Given the description of an element on the screen output the (x, y) to click on. 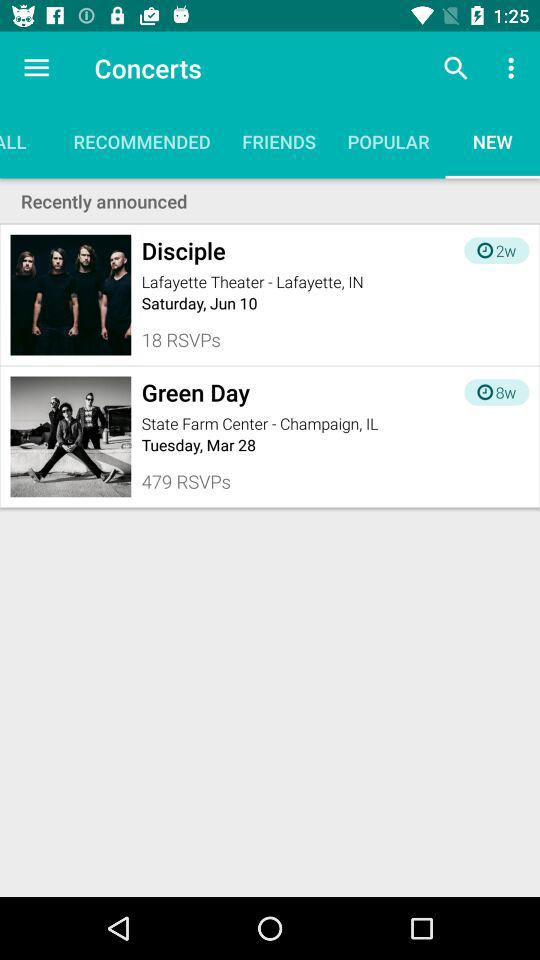
open the item next to concerts item (455, 67)
